Given the description of an element on the screen output the (x, y) to click on. 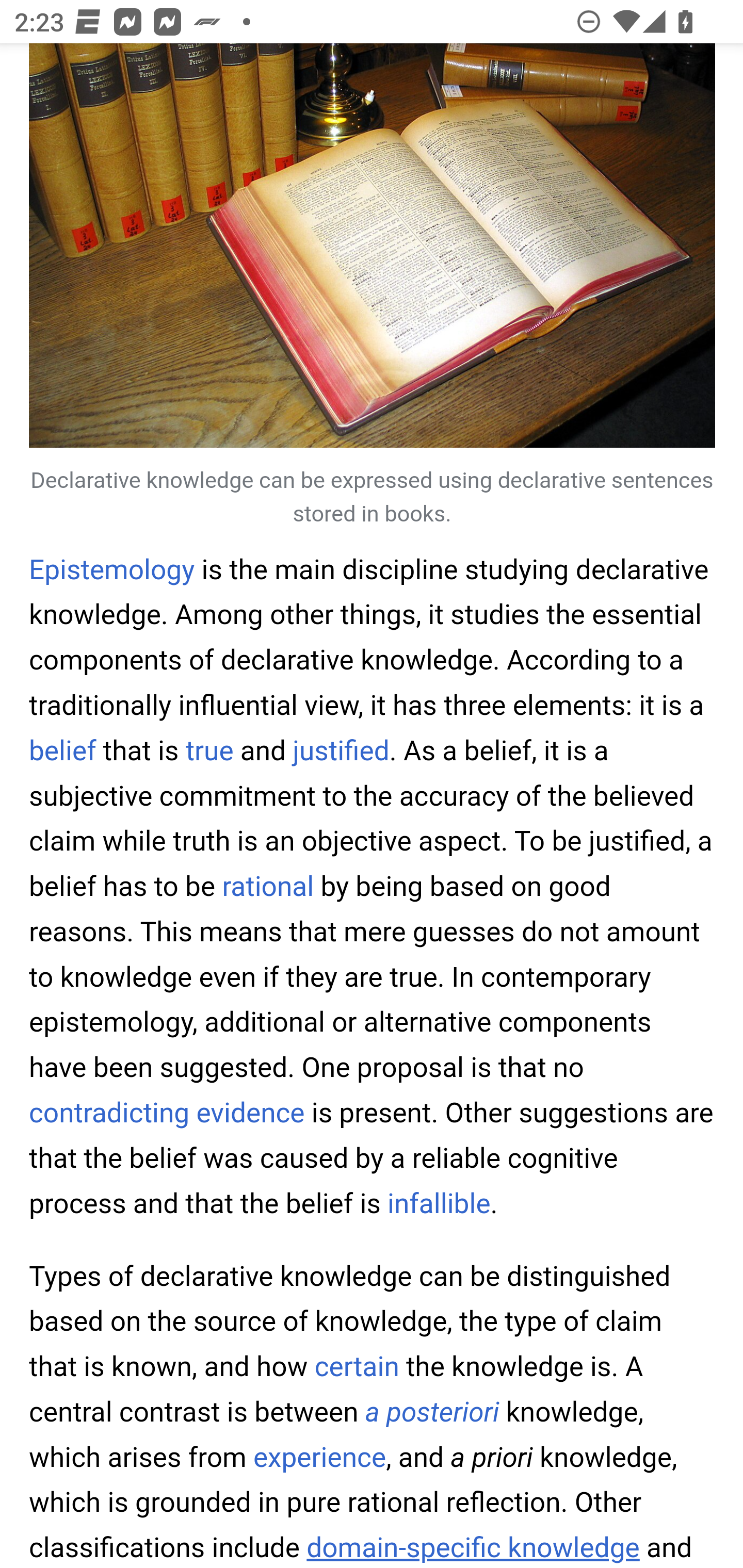
Epistemology (112, 568)
belief (62, 749)
true (209, 749)
justified (341, 749)
rational (267, 887)
contradicting evidence (166, 1113)
infallible (438, 1202)
certain (357, 1367)
a posteriori (432, 1412)
experience (319, 1456)
domain-specific knowledge (472, 1547)
